Given the description of an element on the screen output the (x, y) to click on. 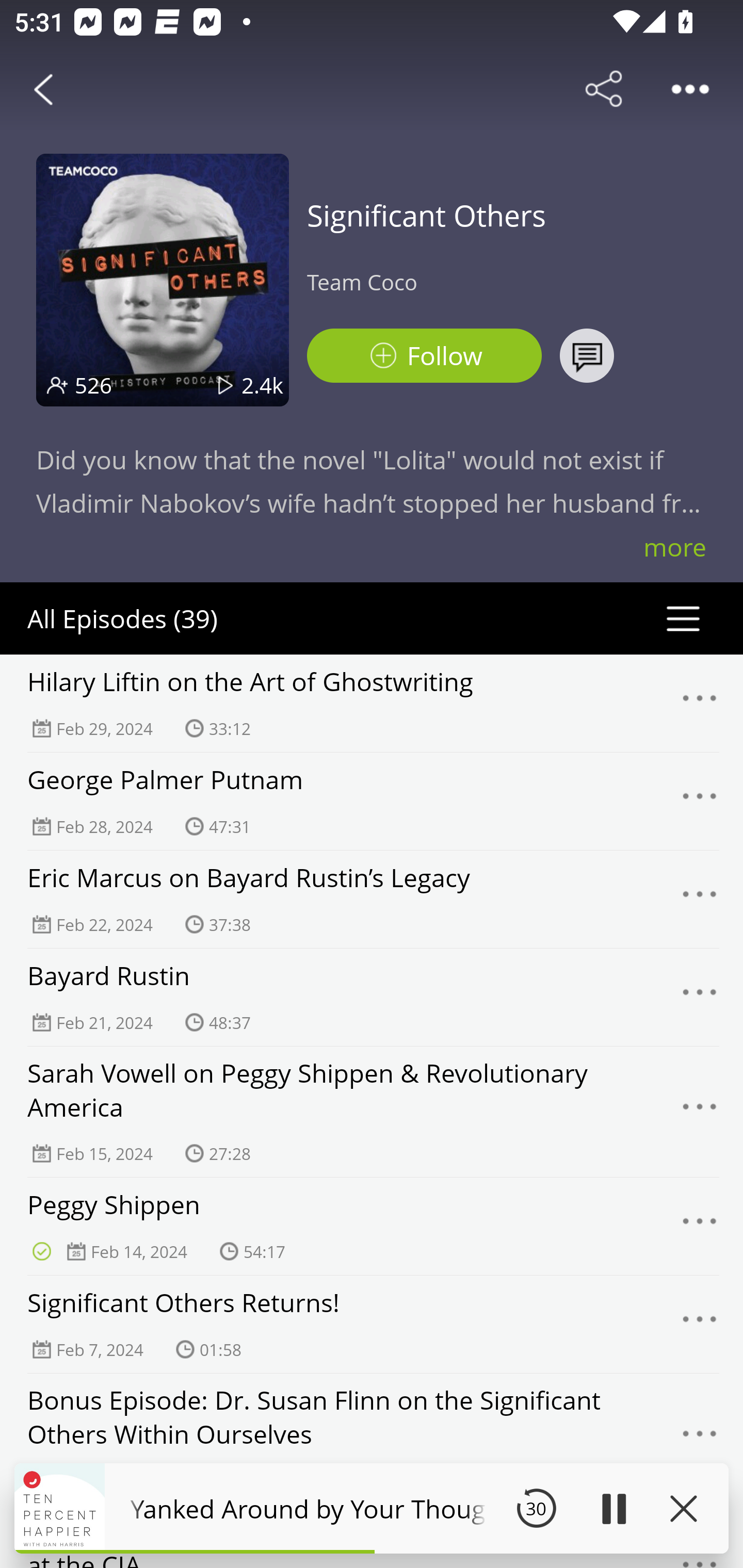
Back (43, 88)
Podbean Follow (423, 355)
526 (93, 384)
more (674, 546)
Menu (699, 703)
George Palmer Putnam Feb 28, 2024 47:31 Menu (371, 800)
Menu (699, 801)
Menu (699, 899)
Bayard Rustin Feb 21, 2024 48:37 Menu (371, 996)
Menu (699, 997)
Menu (699, 1112)
Peggy Shippen Feb 14, 2024 54:17 Menu (371, 1225)
Menu (699, 1226)
Significant Others Returns! Feb 7, 2024 01:58 Menu (371, 1323)
Menu (699, 1324)
Menu (699, 1438)
Play (613, 1507)
30 Seek Backward (536, 1508)
